Given the description of an element on the screen output the (x, y) to click on. 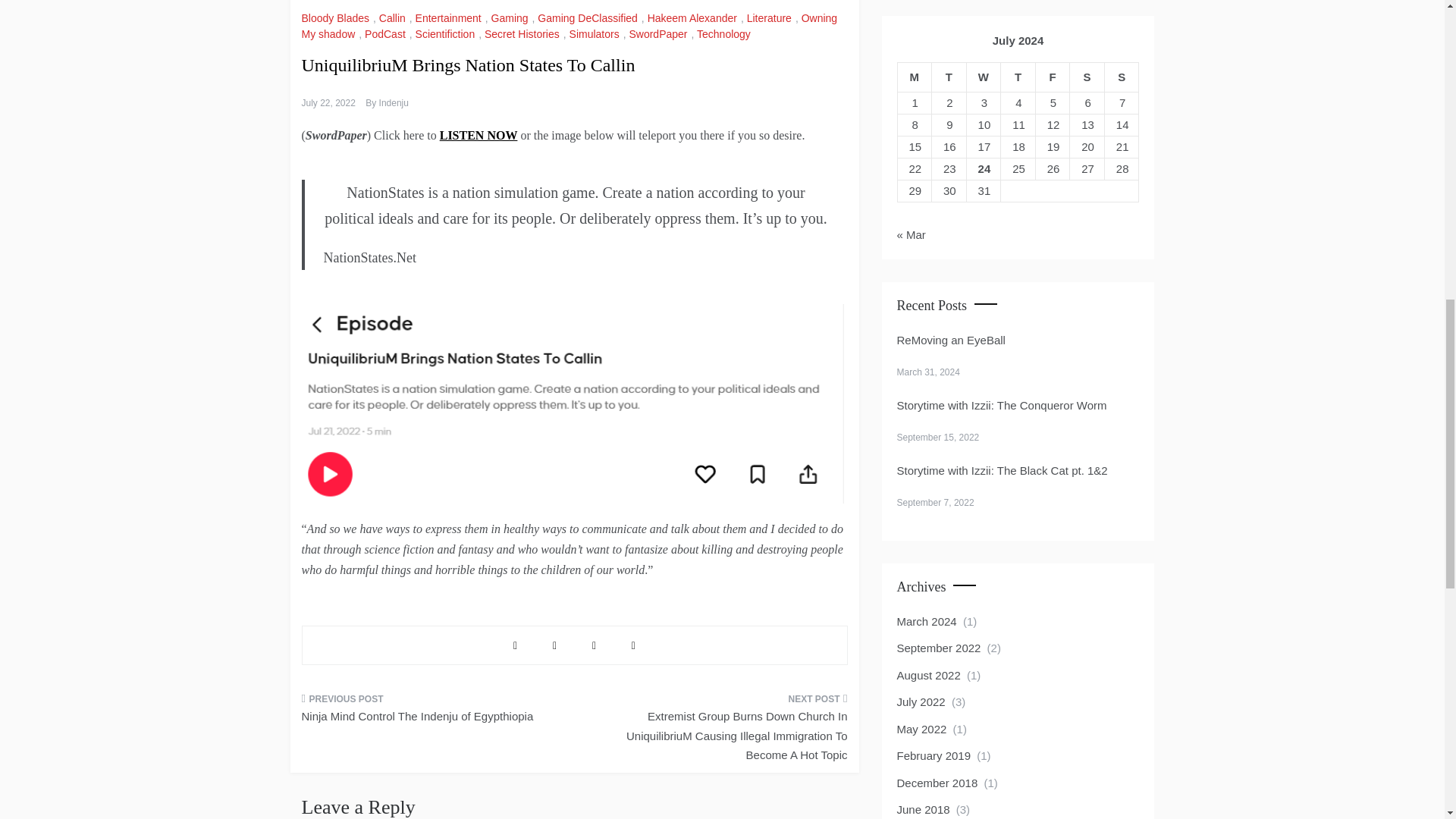
Entertainment (449, 18)
PodCast (387, 33)
Owning My shadow (569, 25)
SwordPaper (659, 33)
Thursday (1018, 76)
Callin (393, 18)
Technology (725, 33)
LISTEN NOW (478, 134)
Indenju (393, 102)
Wednesday (983, 76)
Gaming DeClassified (589, 18)
Bloody Blades (337, 18)
Literature (770, 18)
Secret Histories (523, 33)
